Given the description of an element on the screen output the (x, y) to click on. 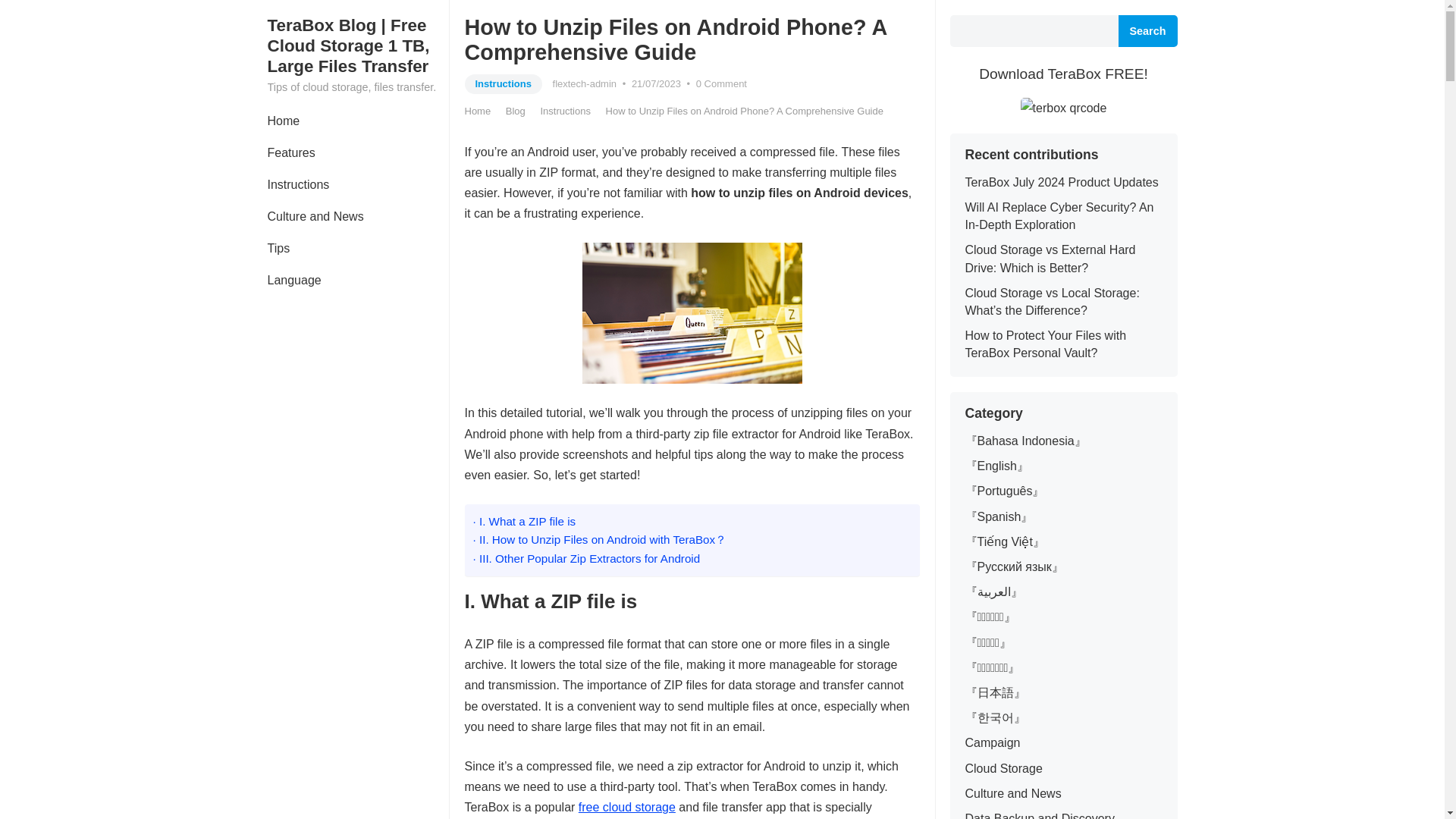
I. What a ZIP file is (524, 521)
Posts by flextech-admin (585, 83)
III. Other Popular Zip Extractors for Android (586, 558)
